Given the description of an element on the screen output the (x, y) to click on. 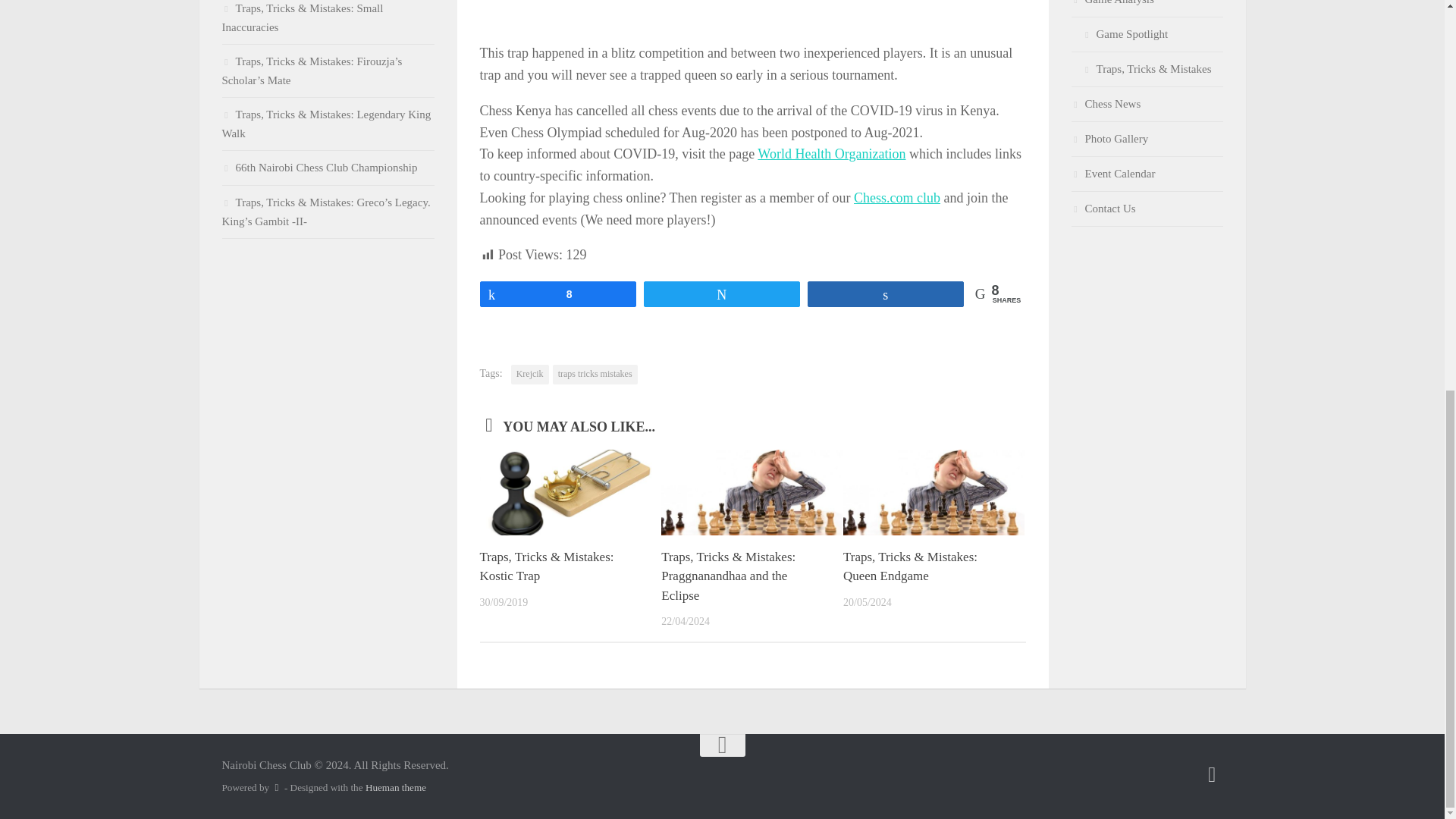
Follow us on Facebook (1212, 774)
Powered by WordPress (275, 787)
Hueman theme (395, 787)
